Given the description of an element on the screen output the (x, y) to click on. 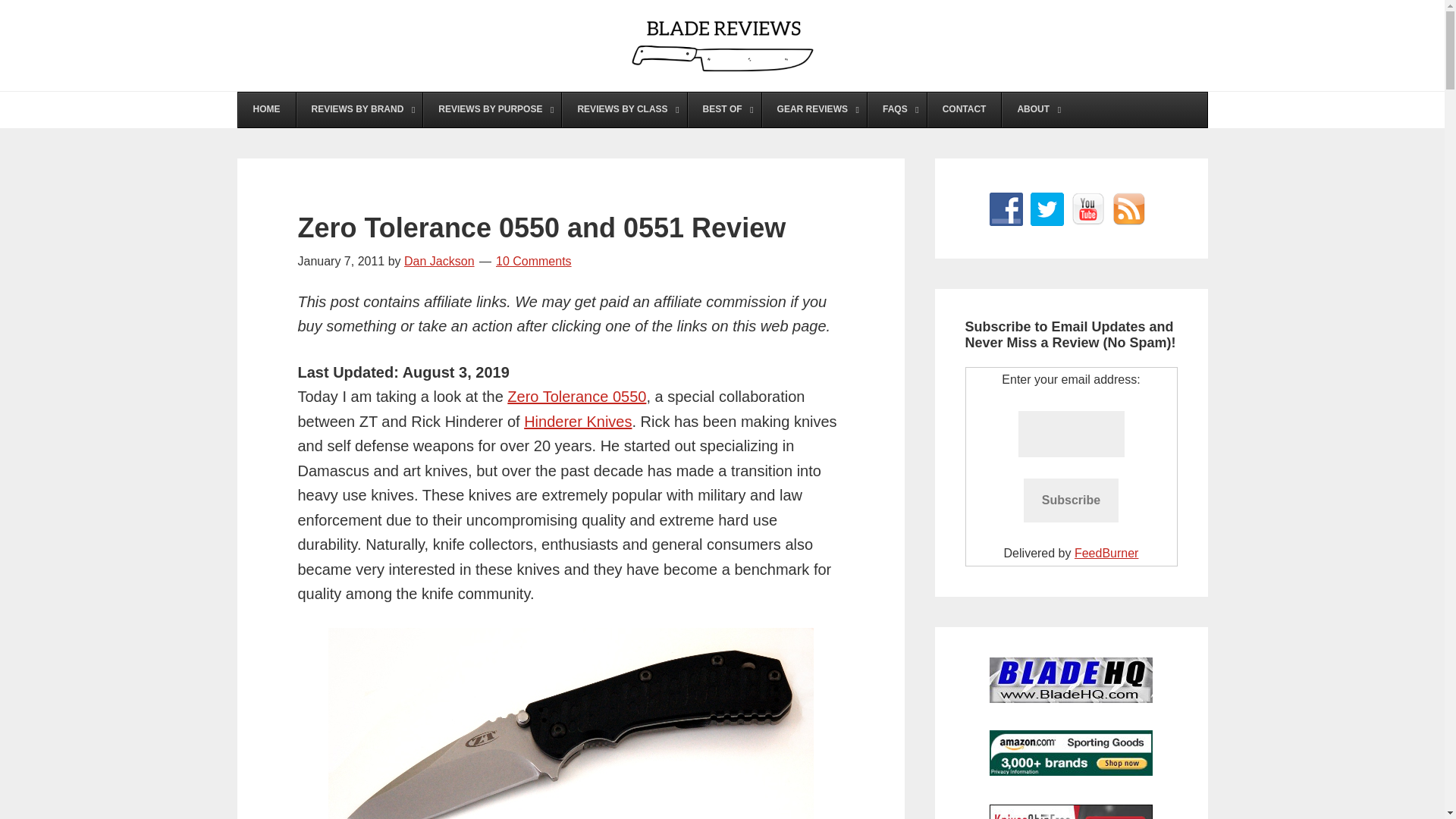
Follow Us on Facebook (1005, 209)
HOME (266, 109)
Follow Us on RSS (1128, 209)
January 7, 2011 (340, 260)
REVIEWS BY BRAND (359, 109)
Follow Us on Twitter (1045, 209)
Follow Us on YouTube (1086, 209)
BladeReviews.com (721, 45)
Subscribe (1070, 500)
